Given the description of an element on the screen output the (x, y) to click on. 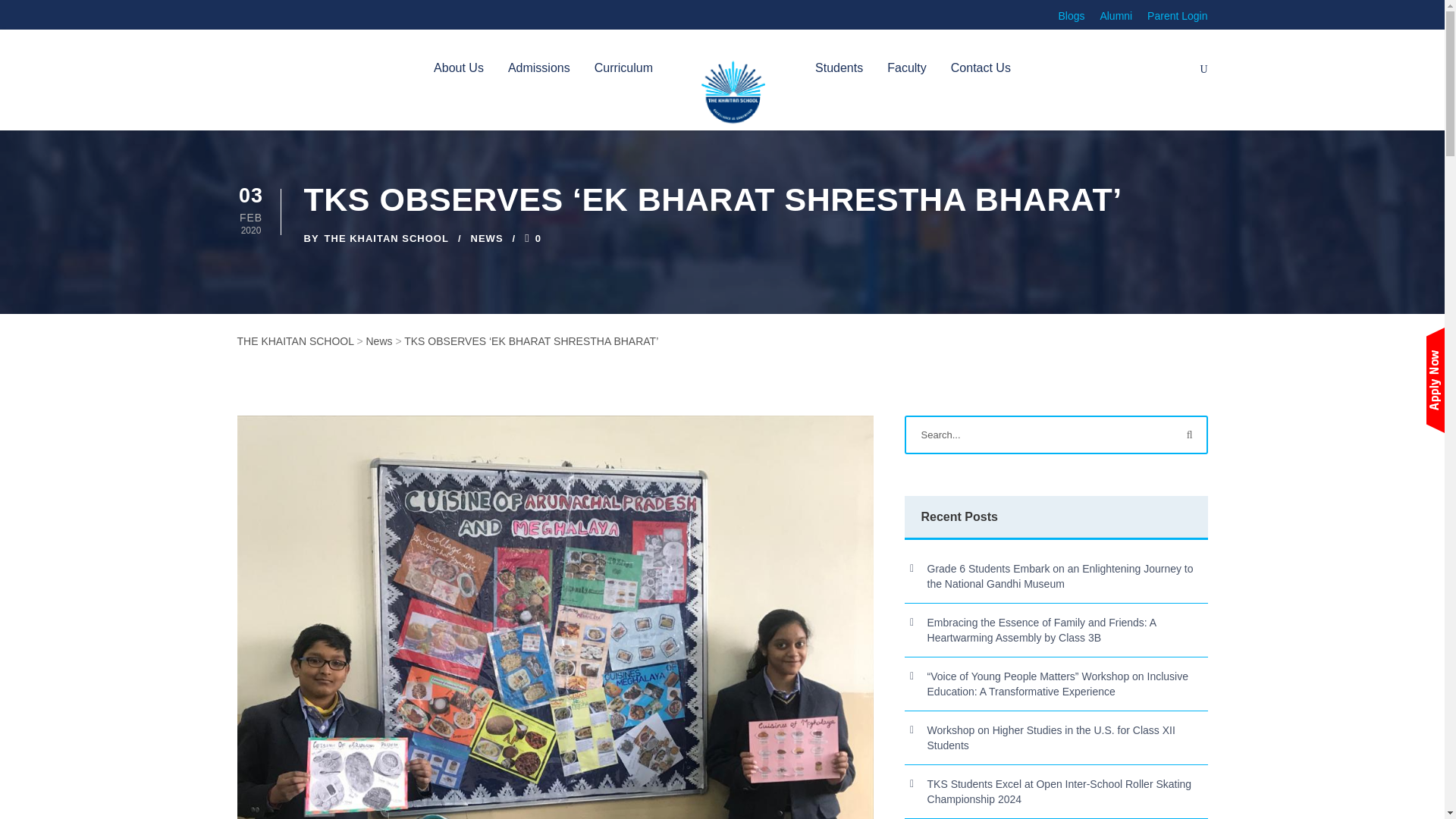
Go to the News category archives. (378, 340)
Posts by The Khaitan School (386, 238)
Go to THE KHAITAN SCHOOL. (294, 340)
Image 15 (734, 93)
